Given the description of an element on the screen output the (x, y) to click on. 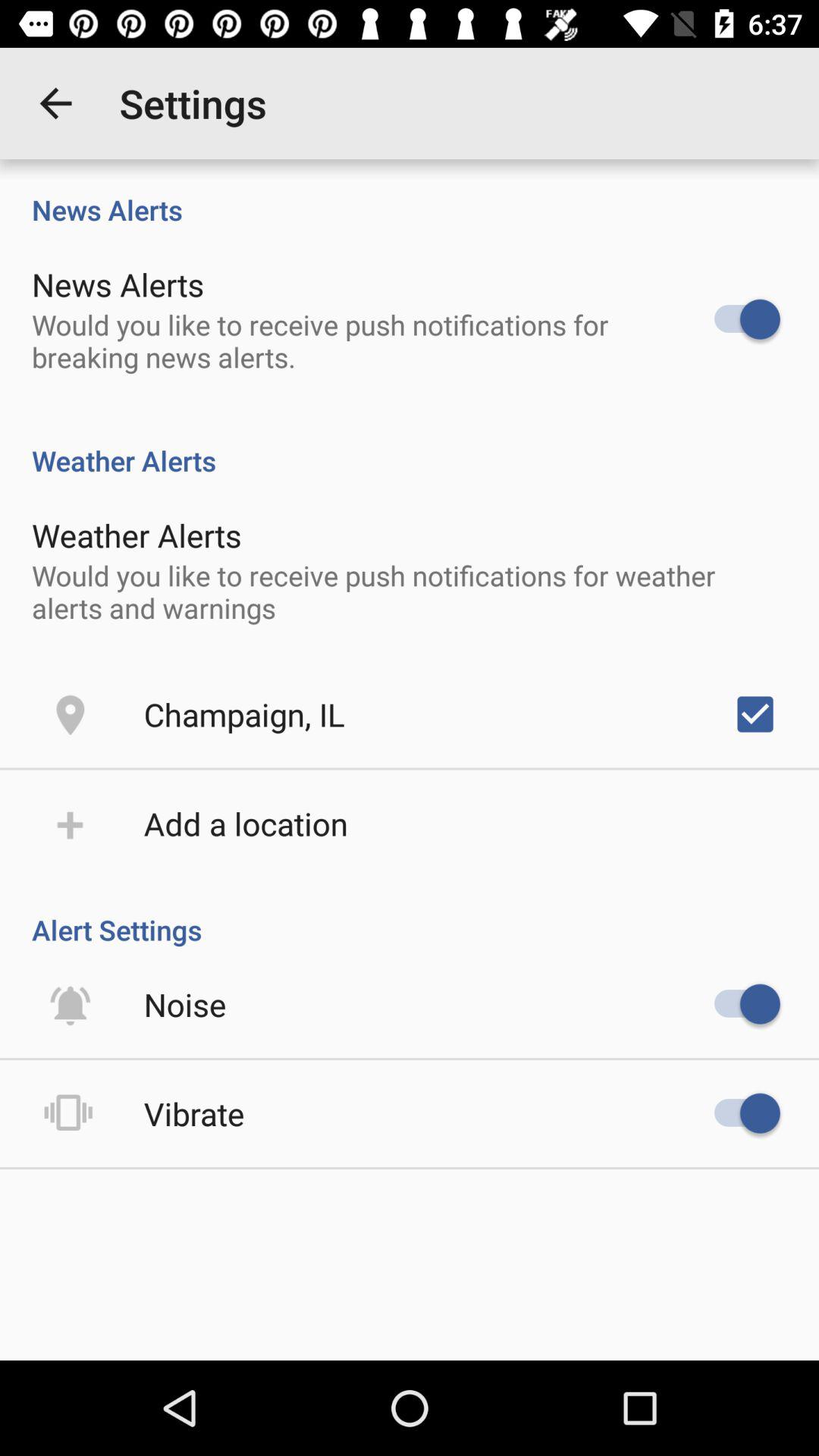
turn off the item below the alert settings item (184, 1004)
